Given the description of an element on the screen output the (x, y) to click on. 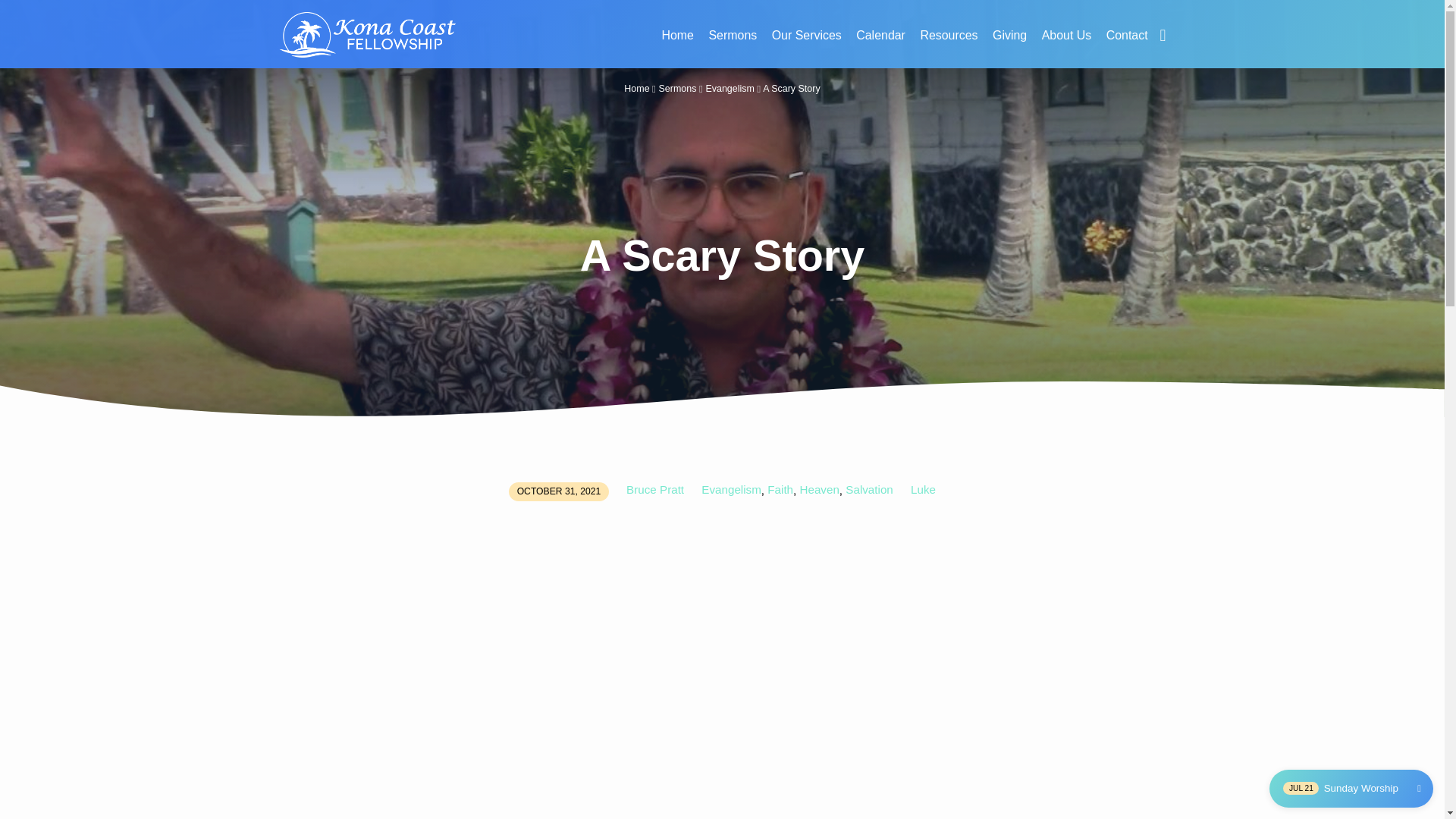
Home (677, 44)
Our Services (806, 44)
Bruce Pratt (655, 489)
Heaven (818, 489)
Sermons (732, 44)
Faith (780, 489)
Resources (948, 44)
Evangelism (731, 489)
Calendar (880, 44)
Luke (923, 489)
Evangelism (729, 88)
Sunday Worship (1339, 787)
Salvation (868, 489)
A Scary Story (791, 88)
Home (636, 88)
